Given the description of an element on the screen output the (x, y) to click on. 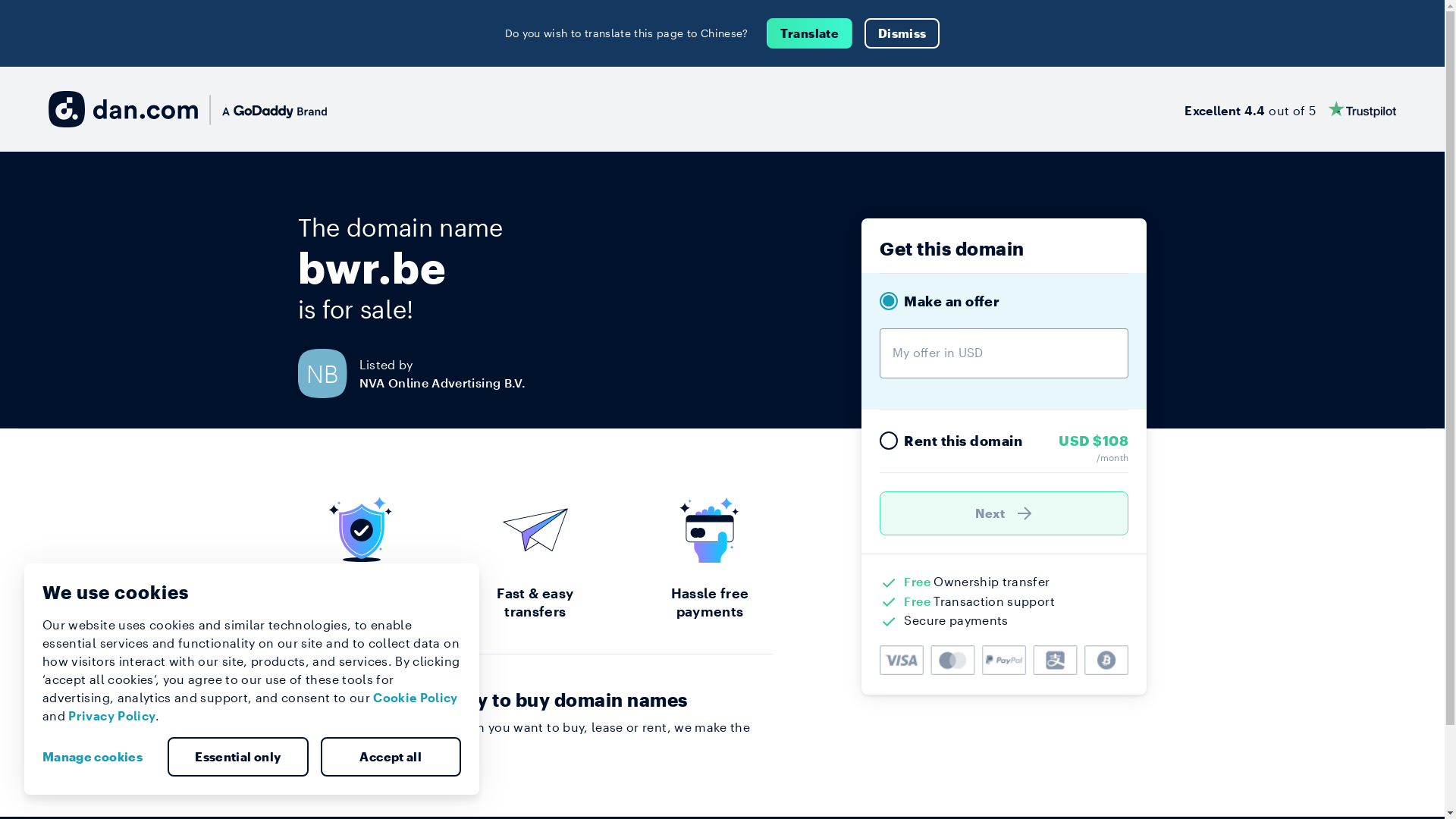
Dismiss Element type: text (901, 33)
Translate Element type: text (809, 33)
Privacy Policy Element type: text (111, 715)
Essential only Element type: text (237, 756)
Next
) Element type: text (1003, 513)
Manage cookies Element type: text (98, 756)
Excellent 4.4 out of 5 Element type: text (1290, 109)
Accept all Element type: text (390, 756)
Cookie Policy Element type: text (415, 697)
